Given the description of an element on the screen output the (x, y) to click on. 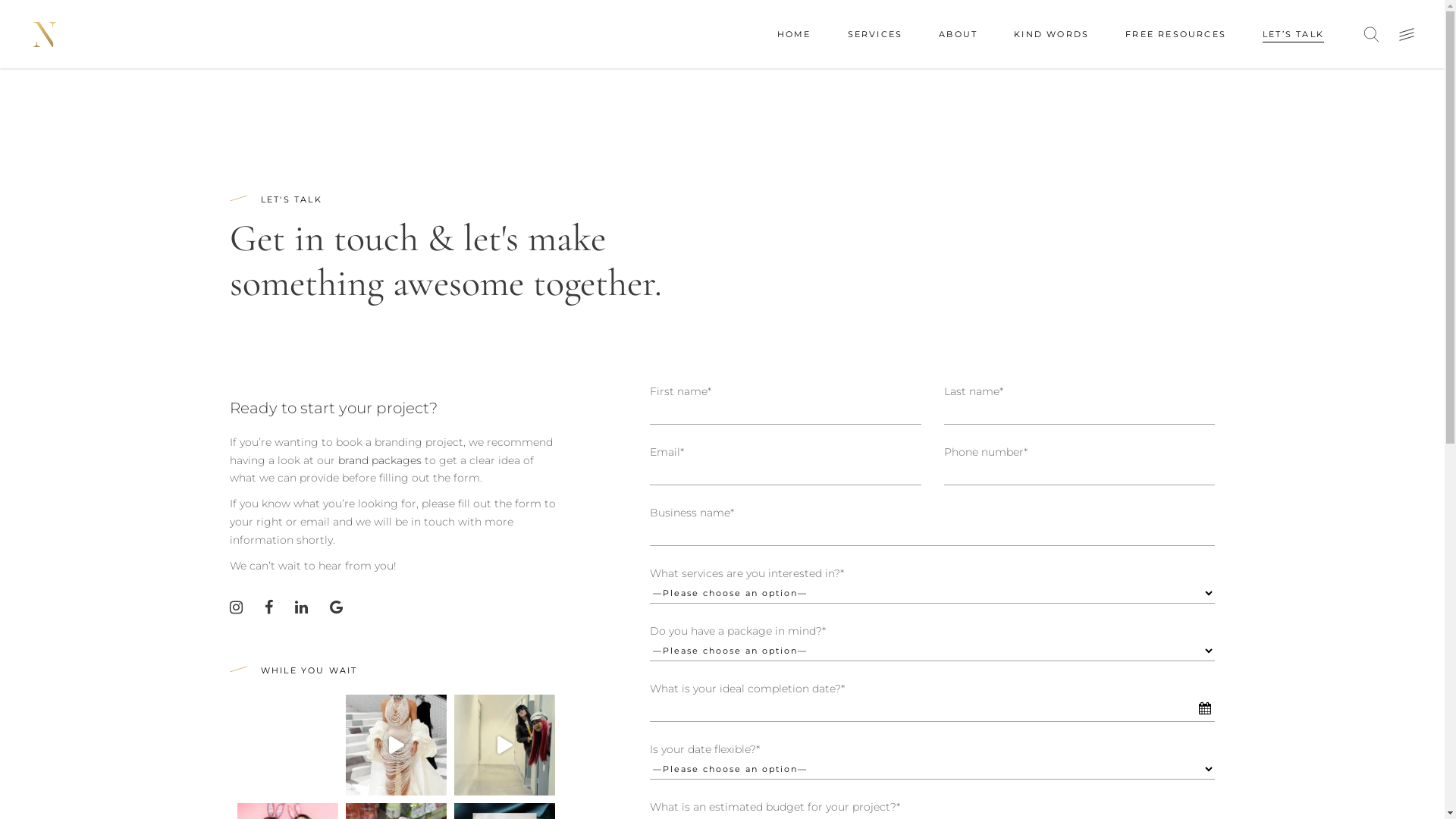
HOME Element type: text (794, 34)
SERVICES Element type: text (875, 34)
FREE RESOURCES Element type: text (1175, 34)
KIND WORDS Element type: text (1051, 34)
ABOUT Element type: text (957, 34)
brand packages Element type: text (379, 460)
